Given the description of an element on the screen output the (x, y) to click on. 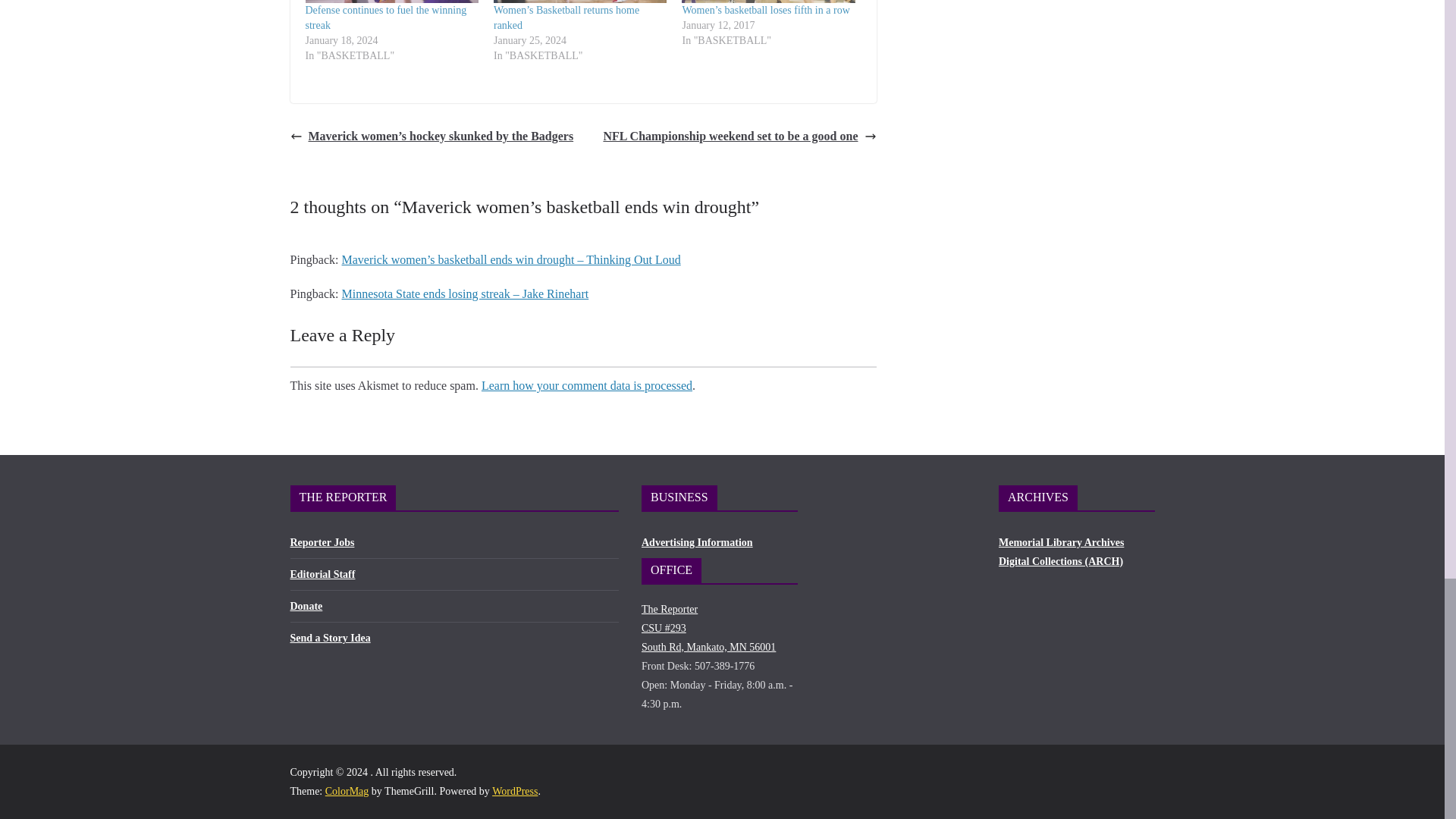
Defense continues to fuel the winning streak (390, 1)
Defense continues to fuel the winning streak (384, 17)
